Given the description of an element on the screen output the (x, y) to click on. 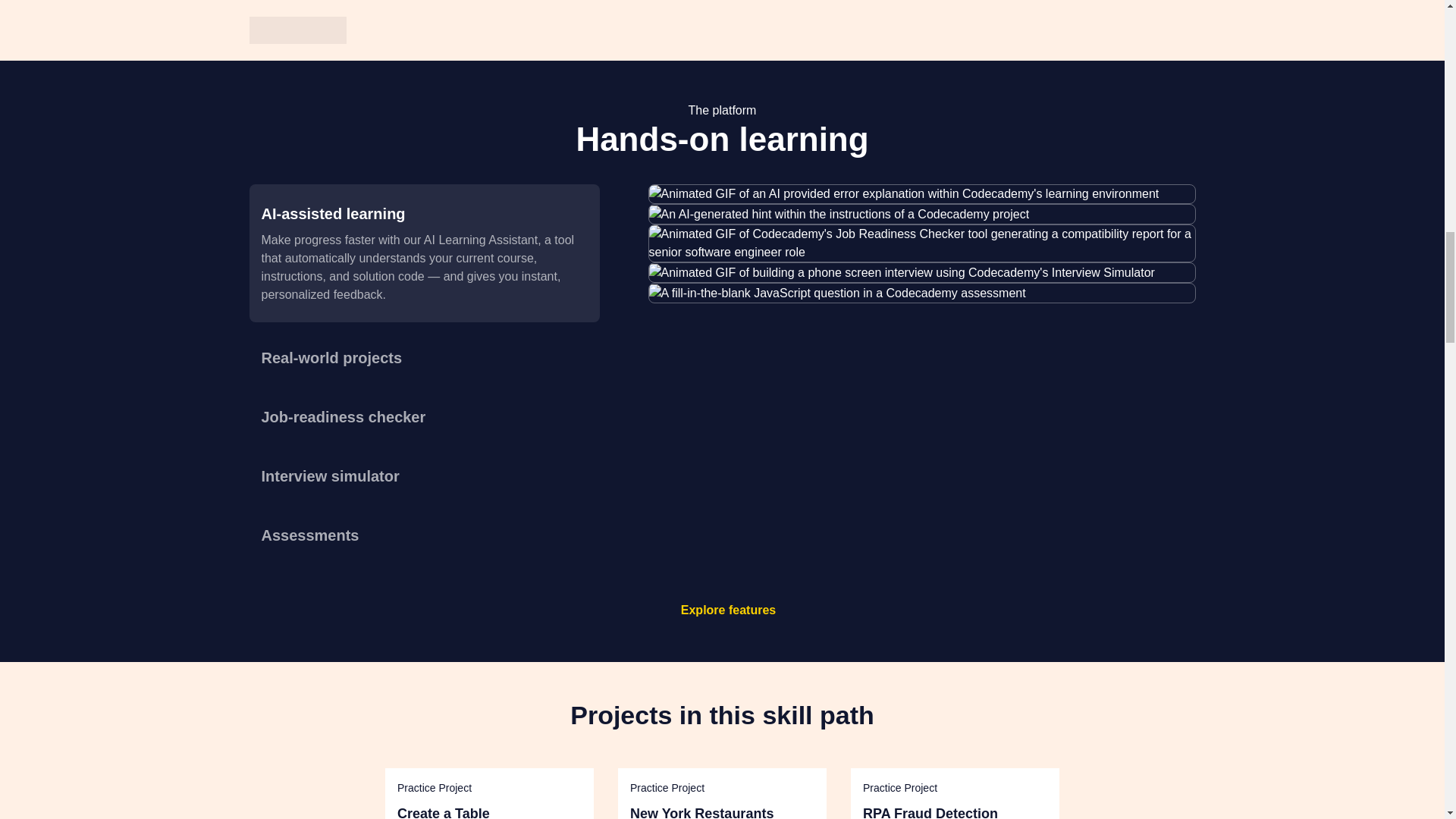
Interview simulator (423, 475)
Start (722, 8)
Explore features (727, 610)
Real-world projects (423, 357)
Job-readiness checker (423, 416)
Assessments (423, 534)
